Given the description of an element on the screen output the (x, y) to click on. 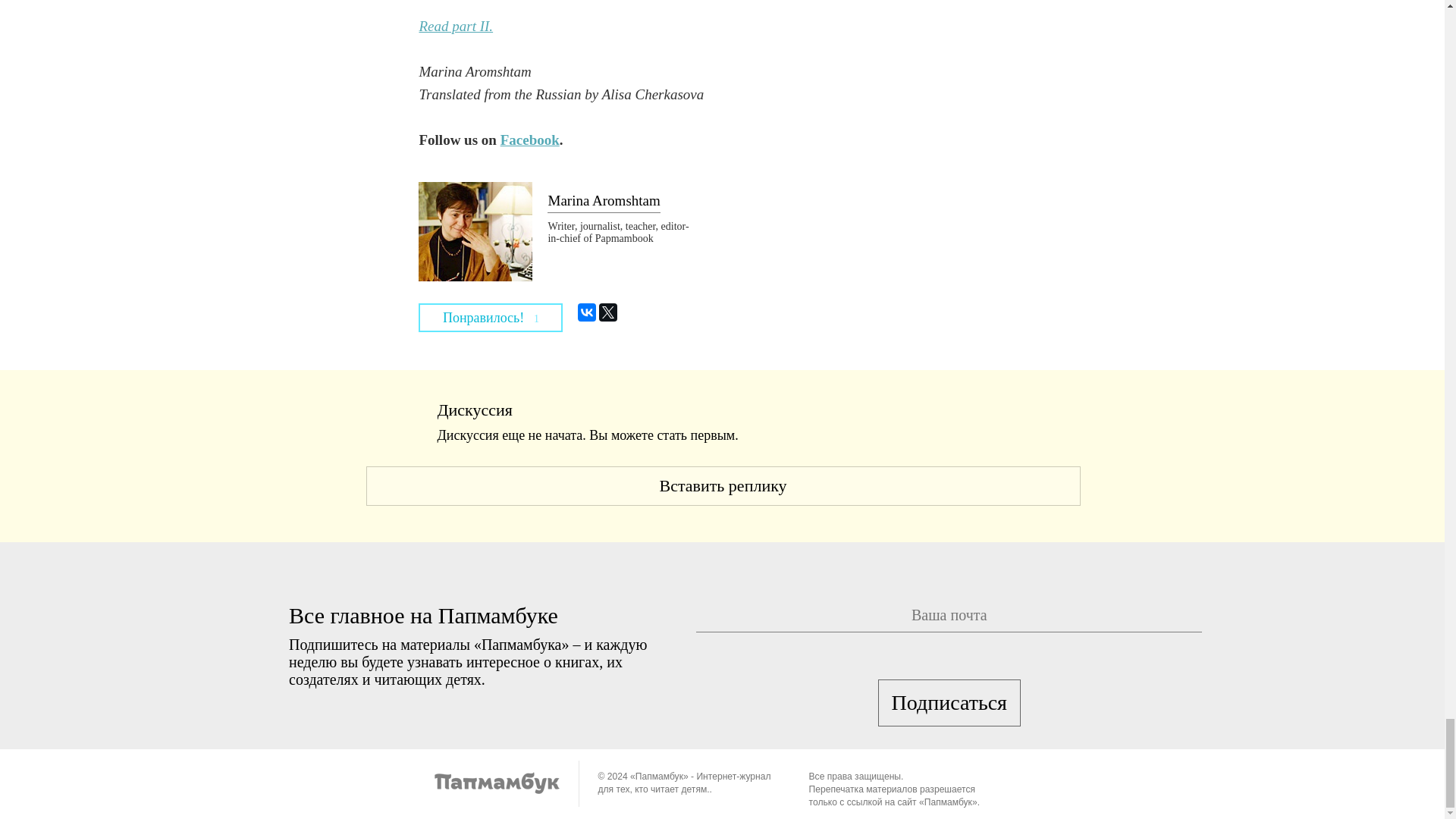
Facebook (529, 139)
Twitter (607, 312)
Read part II. (456, 26)
